Given the description of an element on the screen output the (x, y) to click on. 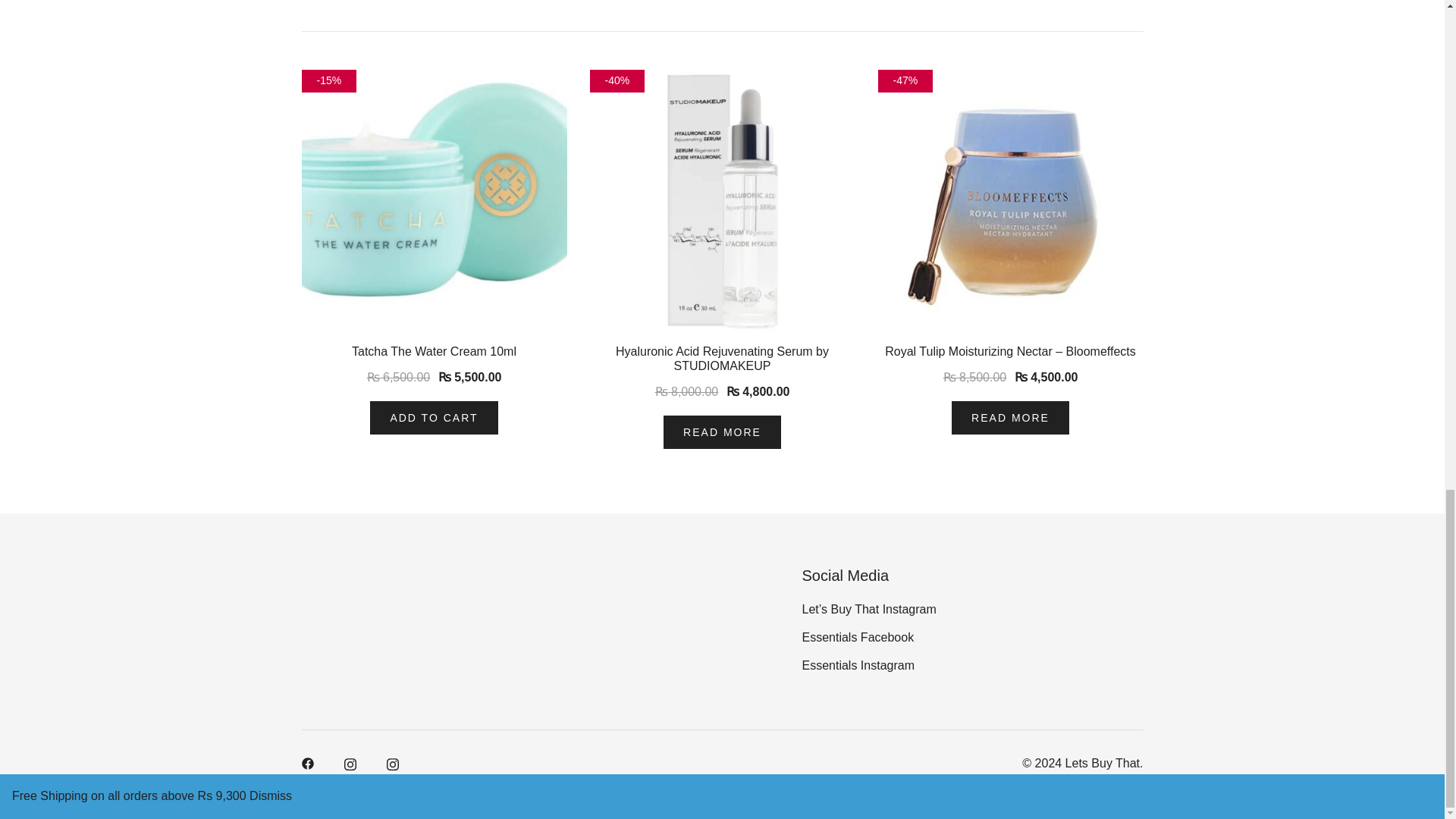
Social network facebook link. (307, 762)
